Given the description of an element on the screen output the (x, y) to click on. 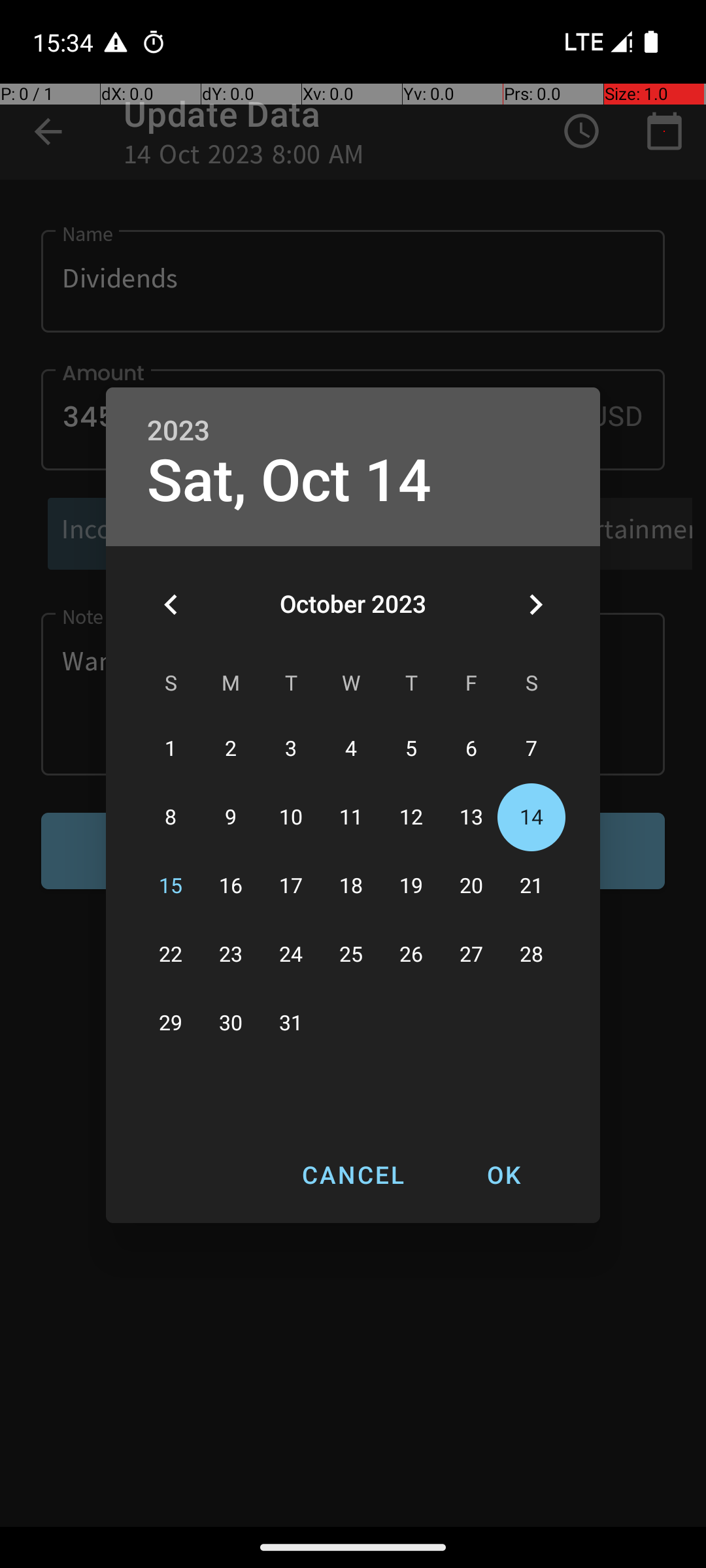
Sat, Oct 14 Element type: android.widget.TextView (289, 480)
